Given the description of an element on the screen output the (x, y) to click on. 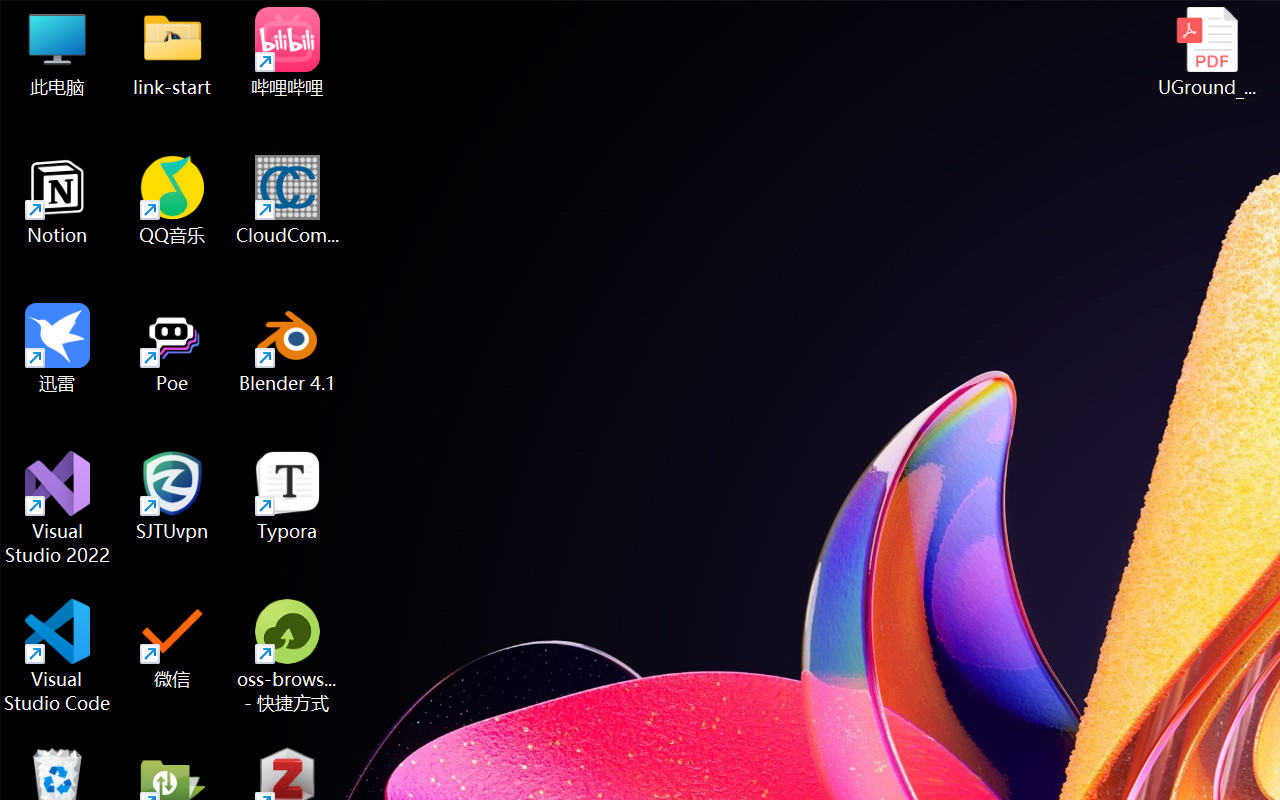
Visual Studio 2022 (57, 508)
CloudCompare (287, 200)
UGround_paper.pdf (1206, 52)
Blender 4.1 (287, 348)
Visual Studio Code (57, 656)
Typora (287, 496)
